Given the description of an element on the screen output the (x, y) to click on. 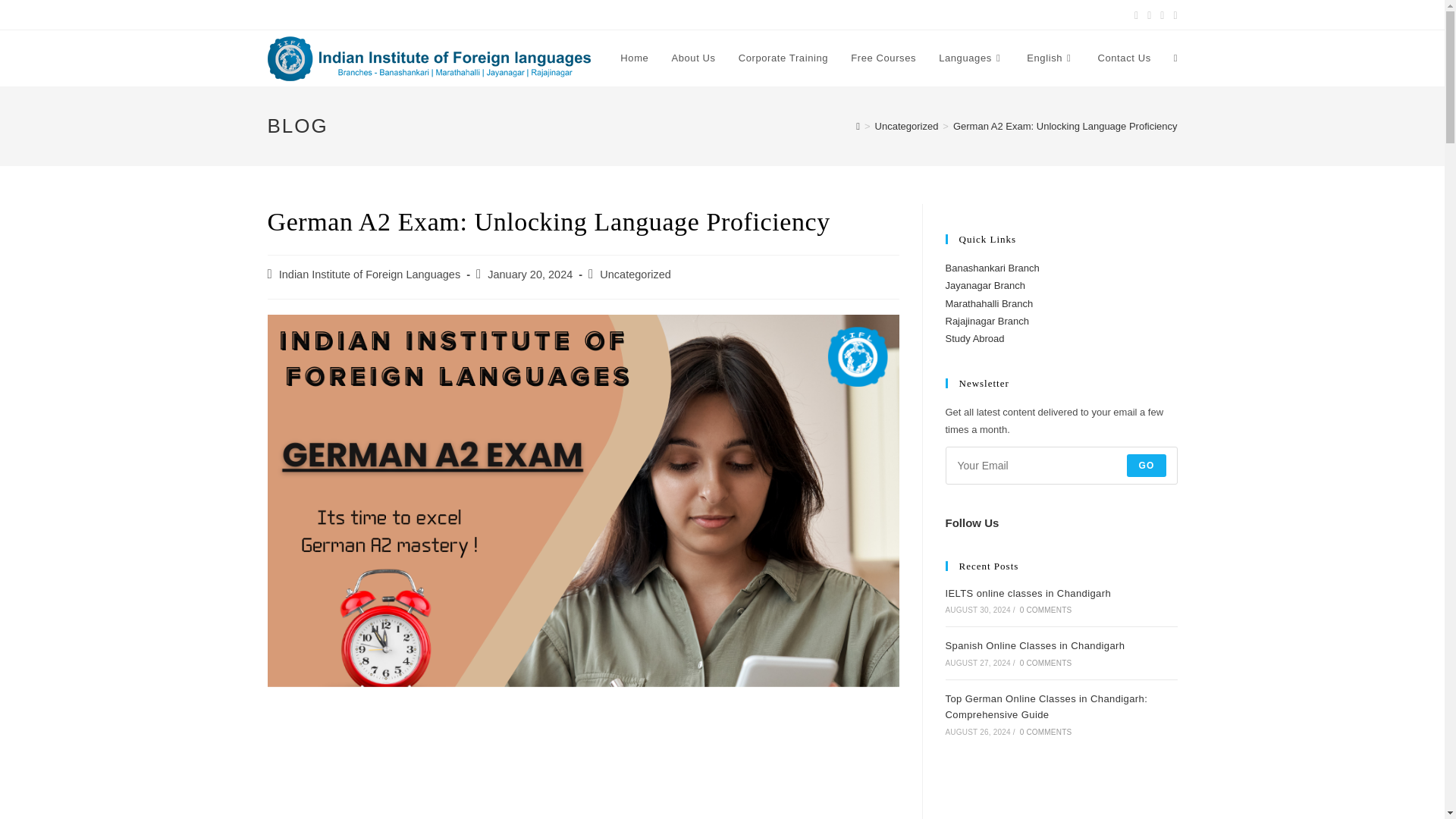
Languages (970, 58)
Corporate Training (783, 58)
English (1050, 58)
080-46805600 (498, 14)
About Us (692, 58)
Posts by Indian Institute of Foreign Languages (369, 274)
Students (659, 14)
Contact Us (1123, 58)
Free Courses (883, 58)
Home (633, 58)
